Given the description of an element on the screen output the (x, y) to click on. 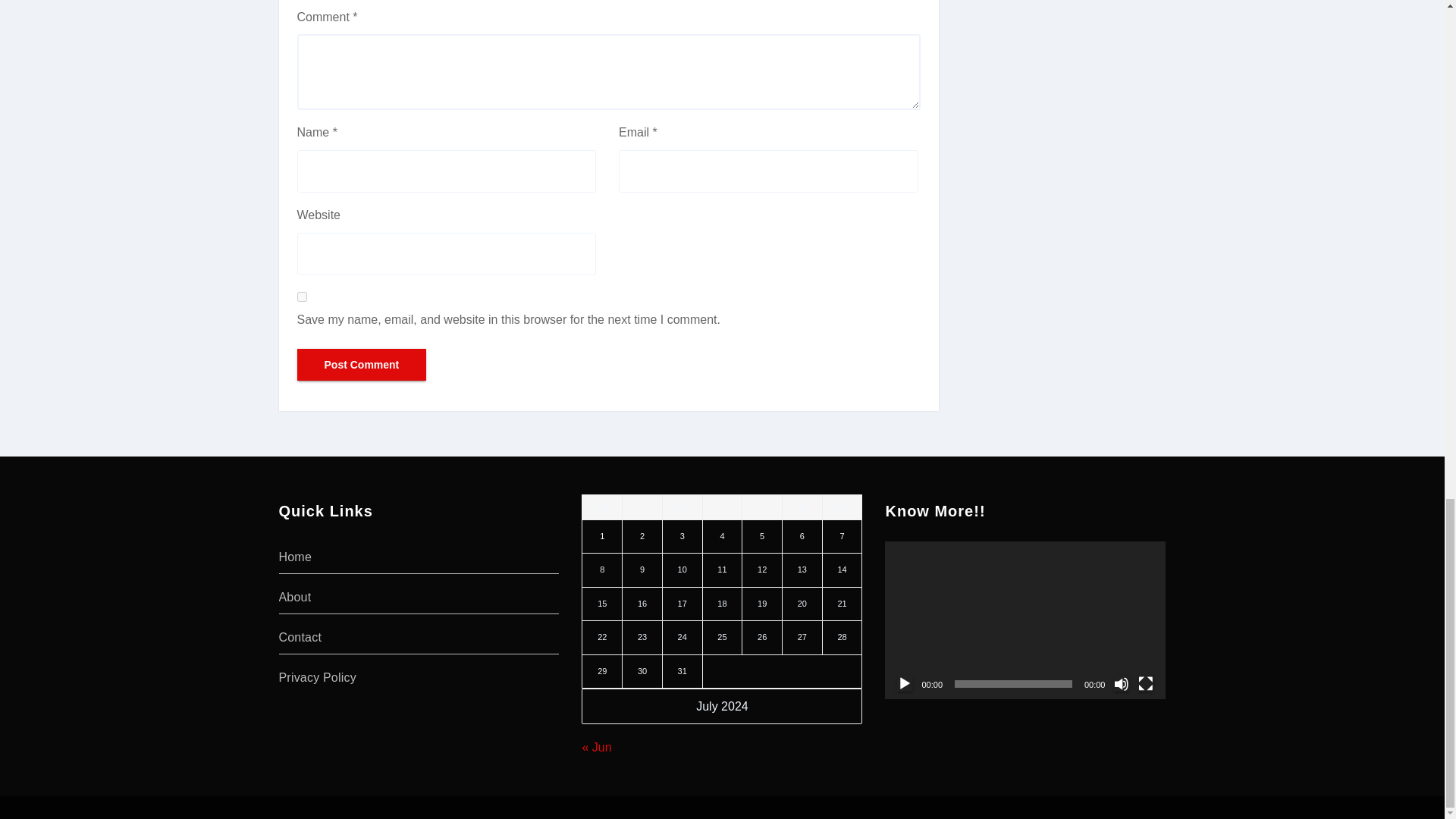
Thursday (721, 507)
Privacy Policy (317, 676)
Home (295, 556)
Post Comment (361, 364)
Wednesday (681, 507)
yes (302, 296)
Tuesday (642, 507)
Monday (602, 507)
Post Comment (361, 364)
About (295, 596)
Contact (300, 636)
